Given the description of an element on the screen output the (x, y) to click on. 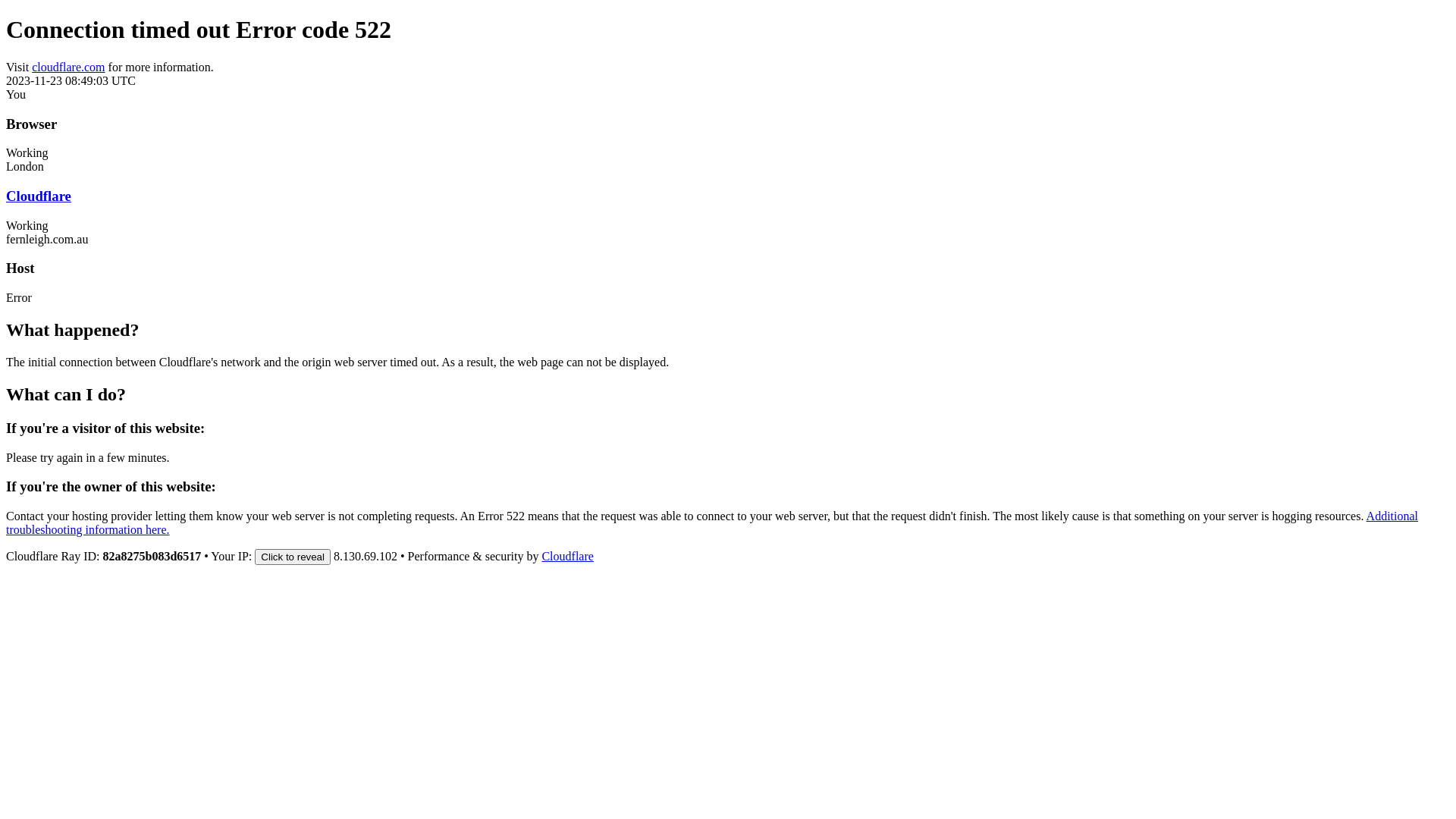
Additional troubleshooting information here. Element type: text (712, 522)
Cloudflare Element type: text (567, 555)
cloudflare.com Element type: text (67, 66)
Click to reveal Element type: text (292, 556)
Cloudflare Element type: text (38, 195)
